Given the description of an element on the screen output the (x, y) to click on. 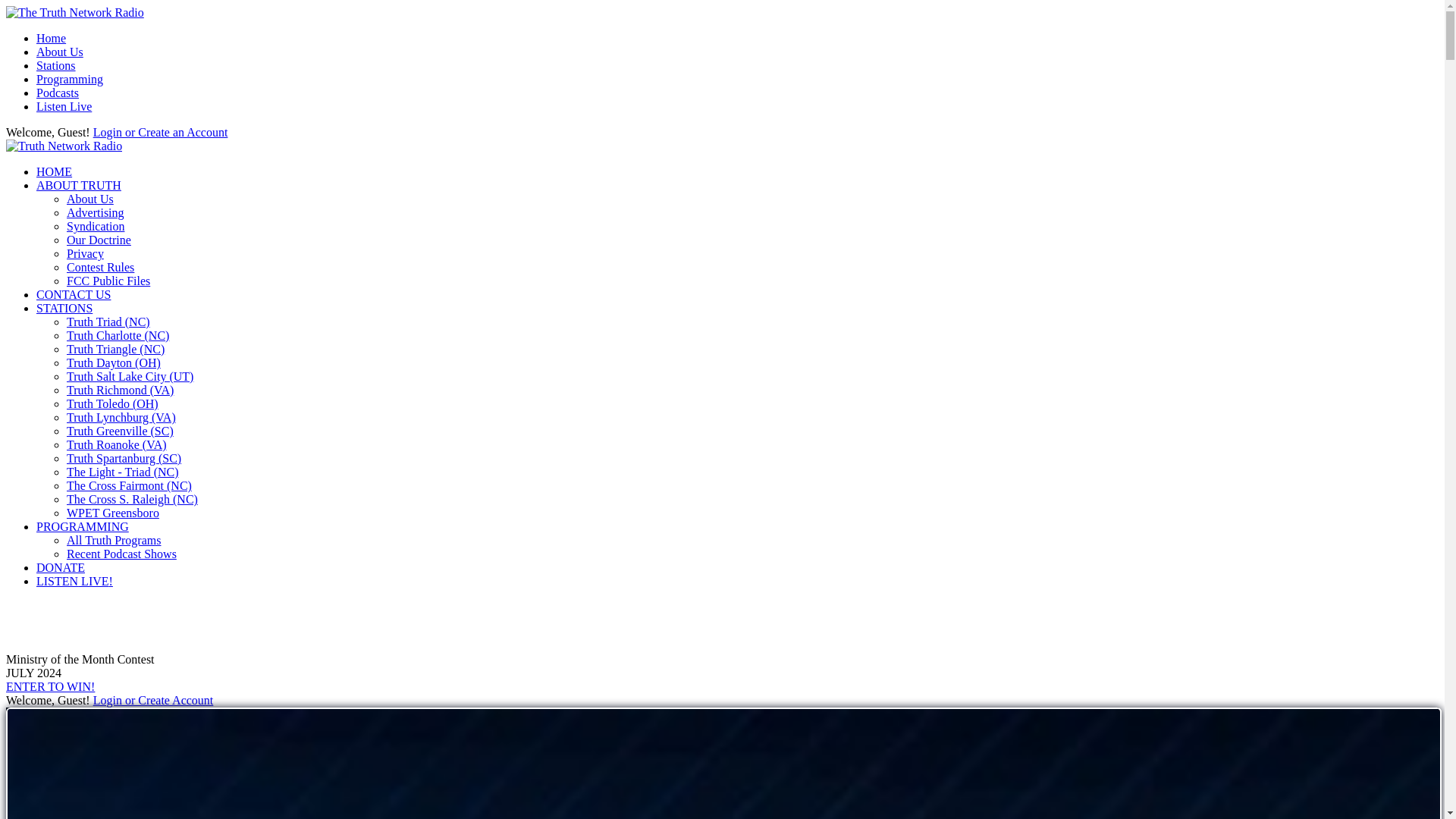
PROGRAMMING (82, 526)
CONTACT US (73, 294)
Our Doctrine (98, 239)
Contest Rules (99, 267)
Listen Live (63, 106)
Programming (69, 78)
FCC Public Files (107, 280)
HOME (53, 171)
Privacy (84, 253)
Stations (55, 65)
WPET Greensboro (112, 512)
Advertising (94, 212)
Home (50, 38)
About Us (89, 198)
Podcasts (57, 92)
